Given the description of an element on the screen output the (x, y) to click on. 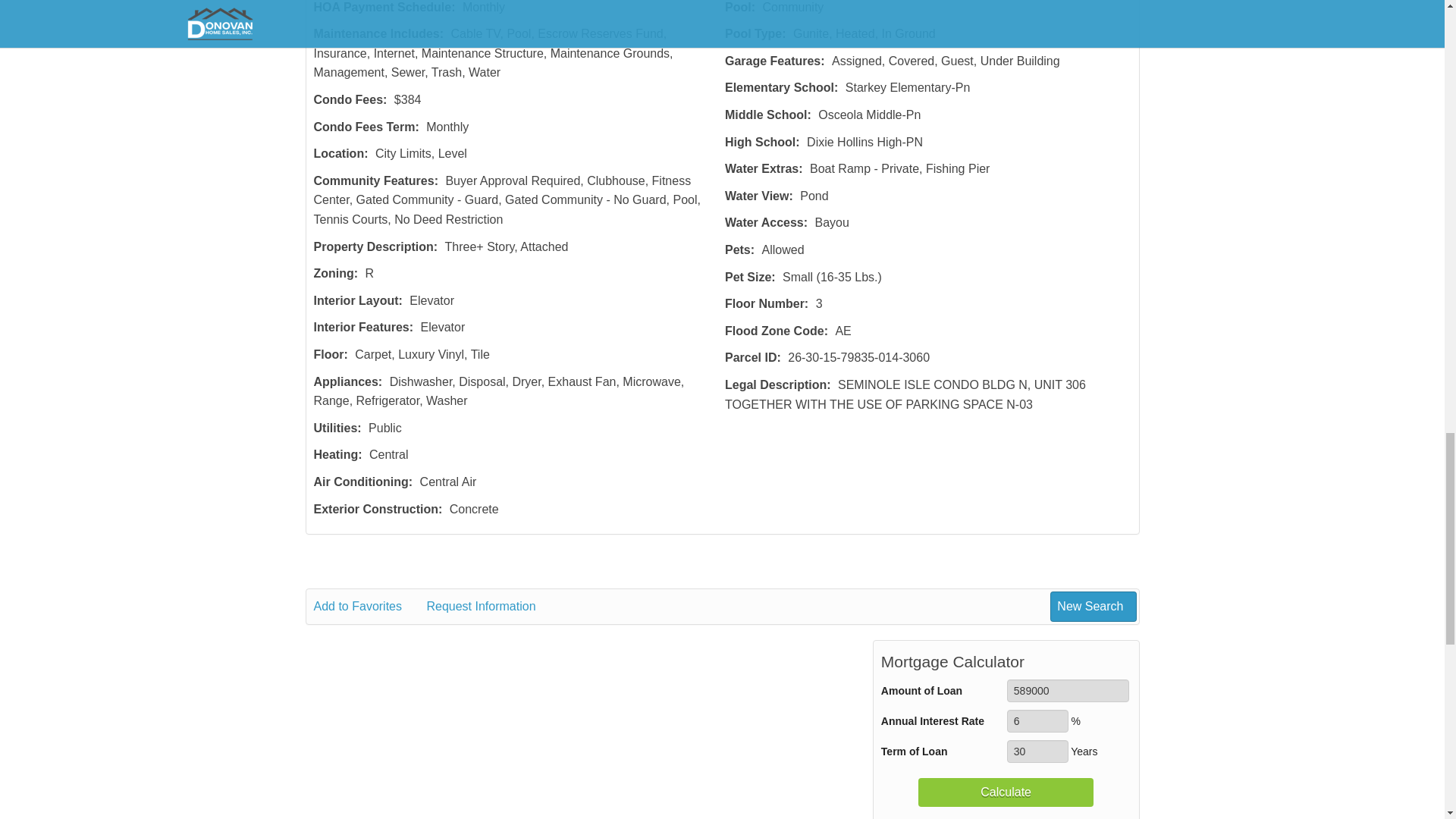
589000 (1068, 690)
30 (1037, 751)
6 (1037, 721)
